Given the description of an element on the screen output the (x, y) to click on. 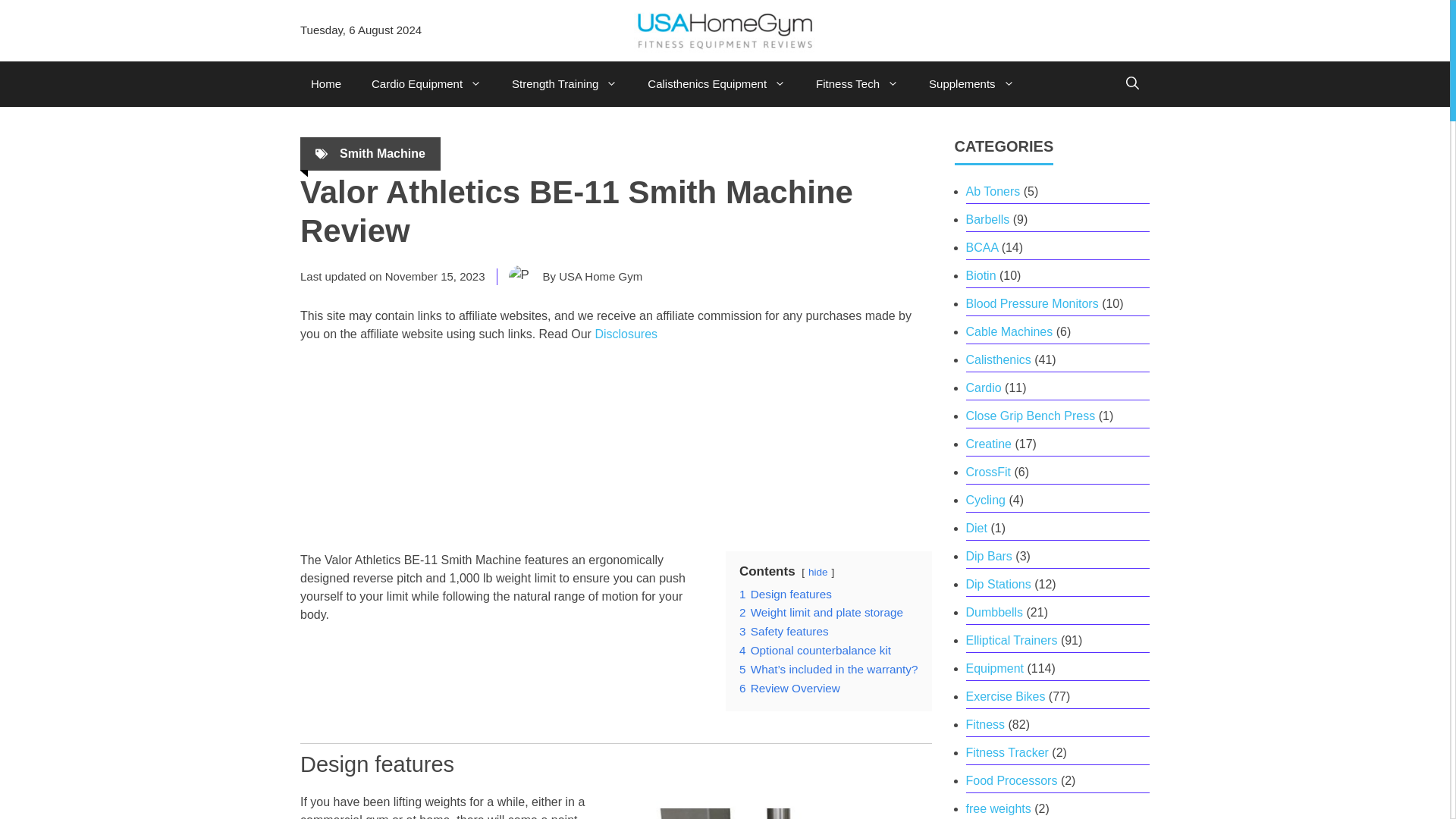
Cardio Equipment (426, 84)
Strength Training (563, 84)
Fitness Tech (857, 84)
Supplements (971, 84)
Calisthenics Equipment (715, 84)
Home (325, 84)
